Given the description of an element on the screen output the (x, y) to click on. 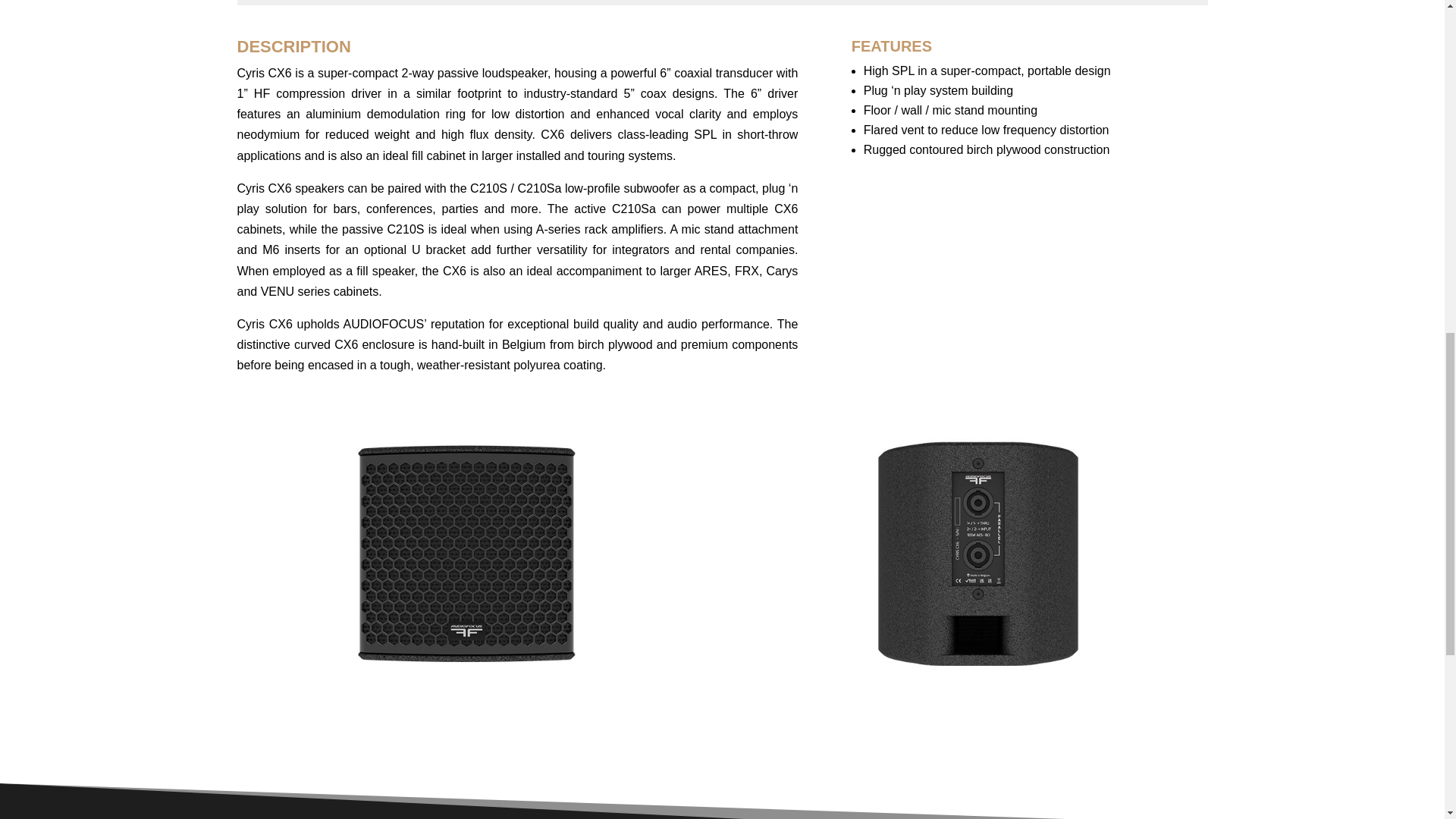
Carys Cx6 Back (978, 553)
Cyris CX6 Front 2 (465, 553)
